Given the description of an element on the screen output the (x, y) to click on. 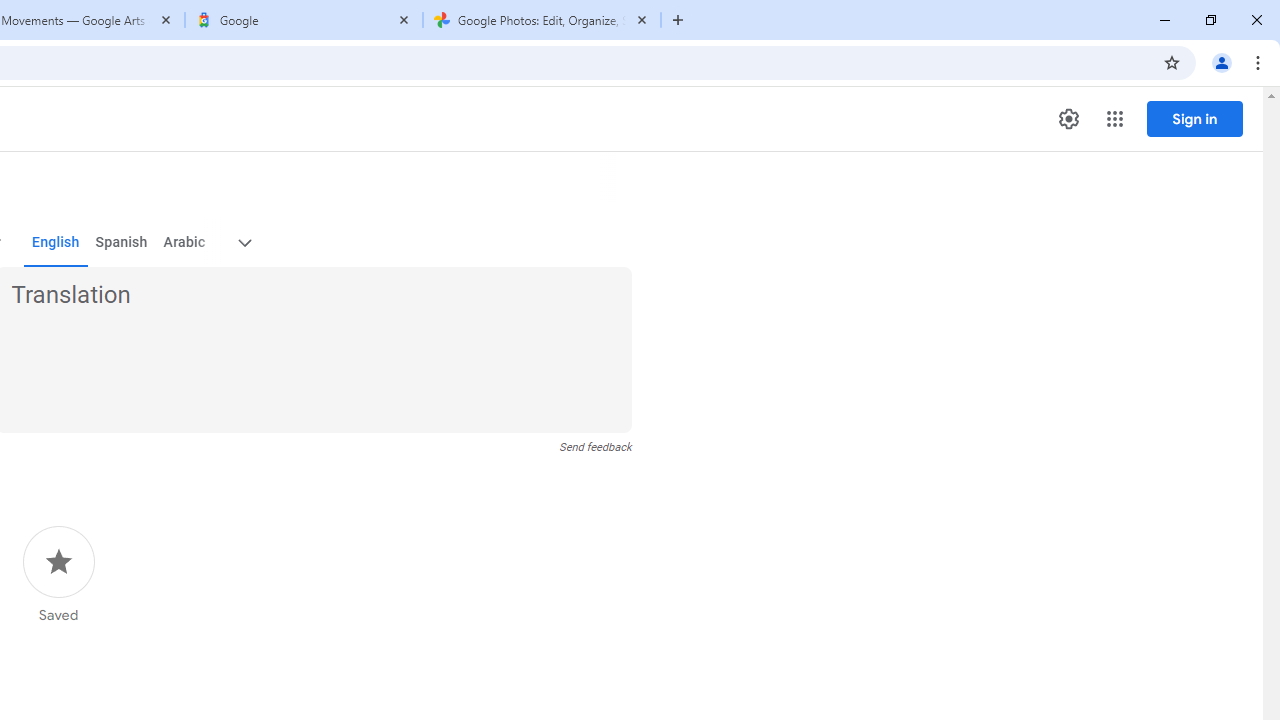
Line up (1267, 251)
